Given the description of an element on the screen output the (x, y) to click on. 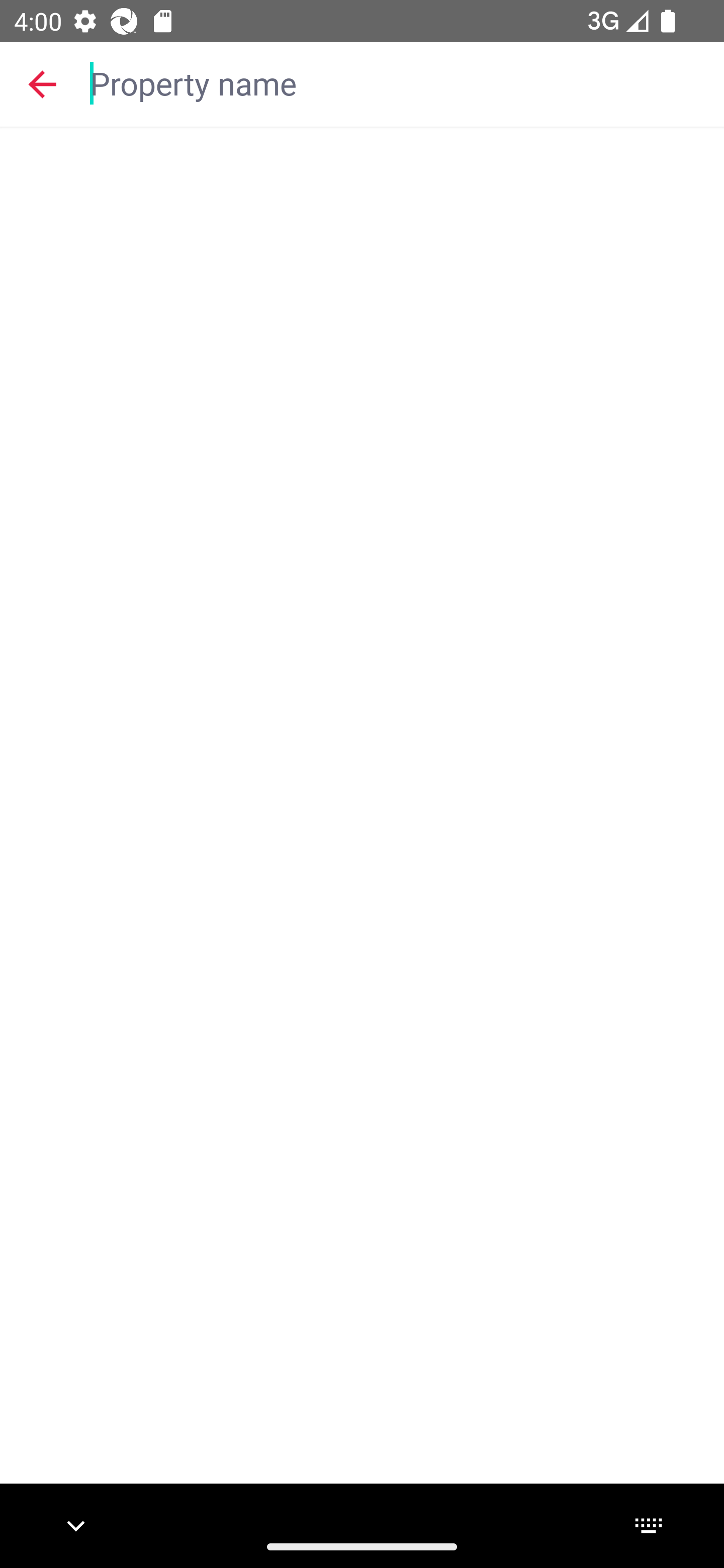
Property name,  (397, 82)
Back to search screen (41, 83)
